Given the description of an element on the screen output the (x, y) to click on. 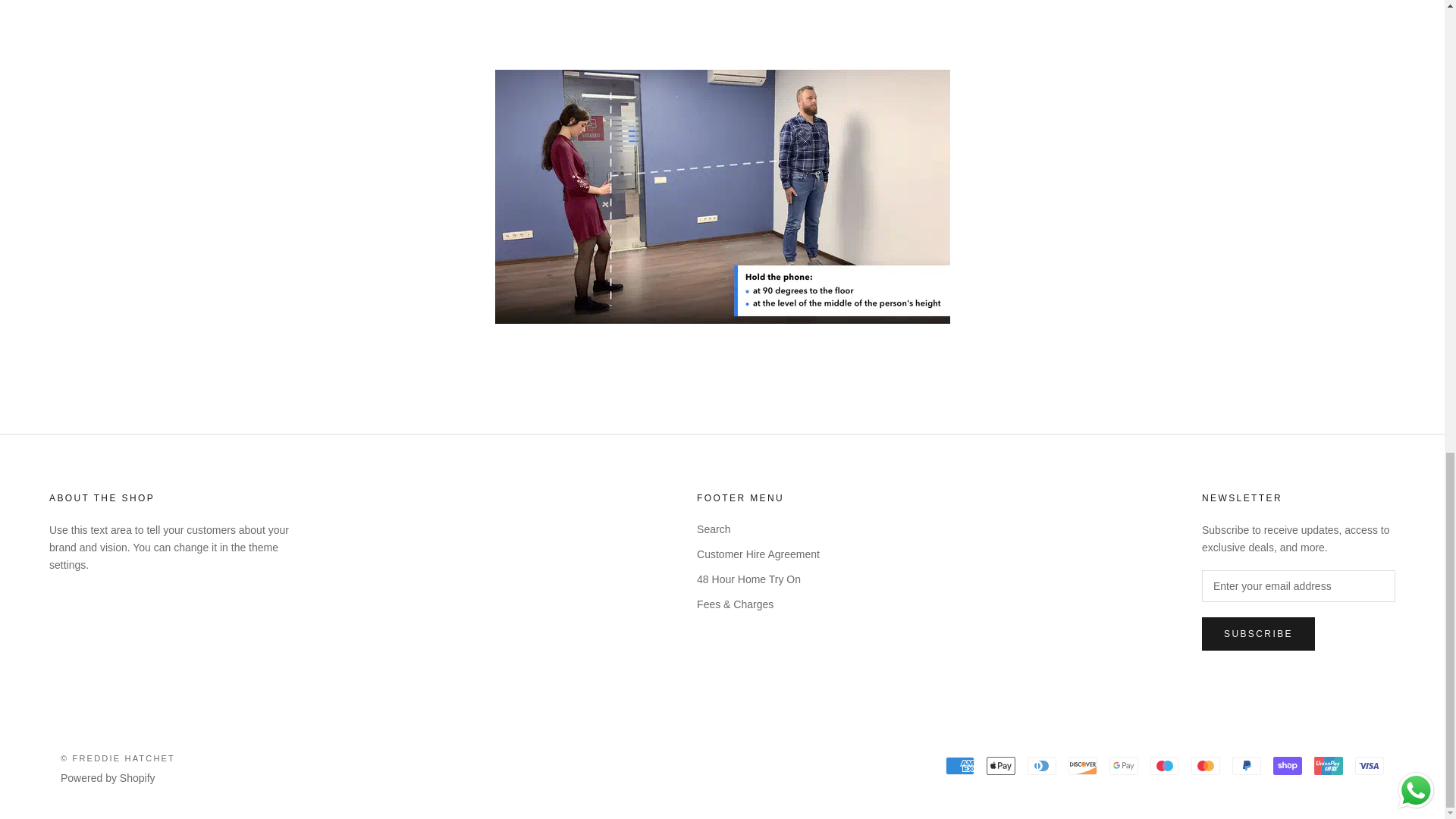
Google Pay (1123, 765)
Discover (1082, 765)
Diners Club (1042, 765)
Visa (1369, 765)
Shop Pay (1286, 765)
Apple Pay (1000, 765)
Union Pay (1328, 765)
Mastercard (1205, 765)
PayPal (1245, 765)
Maestro (1164, 765)
American Express (959, 765)
